Given the description of an element on the screen output the (x, y) to click on. 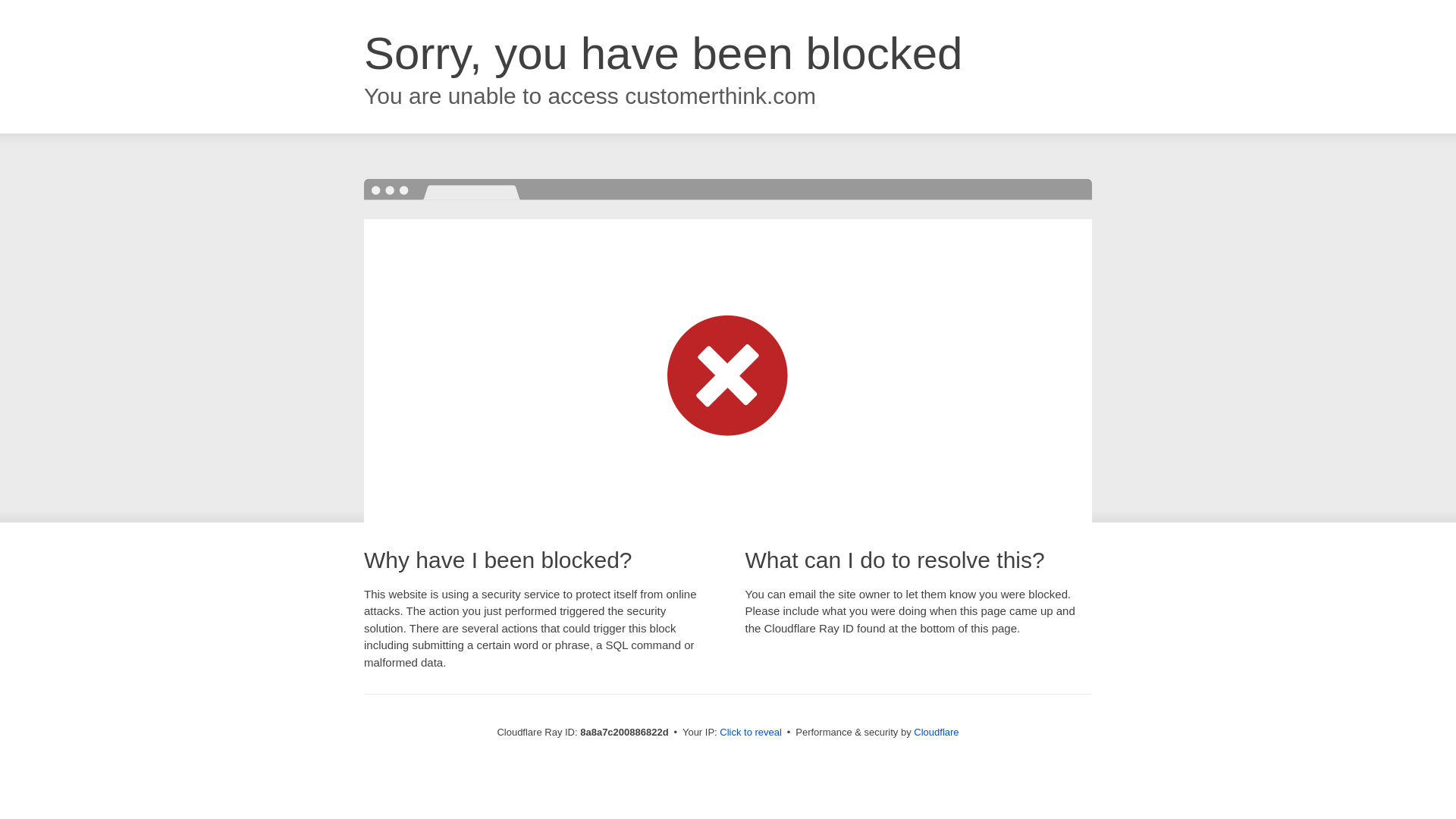
Cloudflare (936, 731)
Click to reveal (750, 732)
